Given the description of an element on the screen output the (x, y) to click on. 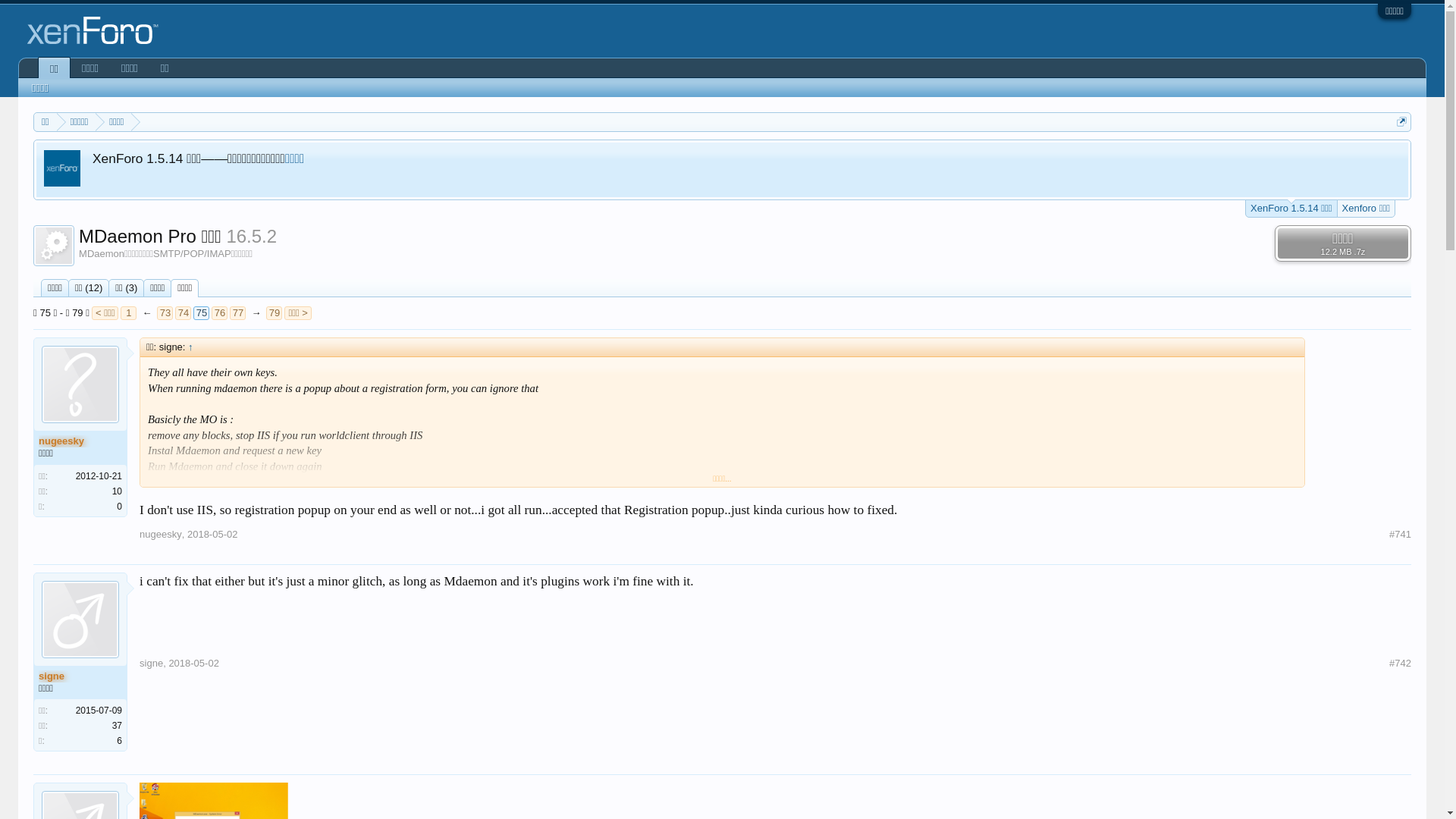
77 Element type: text (237, 313)
signe Element type: text (151, 662)
37 Element type: text (117, 725)
nugeesky Element type: text (80, 441)
79 Element type: text (274, 313)
nugeesky Element type: text (160, 533)
#741 Element type: text (1400, 534)
1 Element type: text (128, 313)
10 Element type: text (117, 491)
73 Element type: text (164, 313)
74 Element type: text (183, 313)
#742 Element type: text (1400, 663)
76 Element type: text (219, 313)
75 Element type: text (201, 313)
2018-05-02 Element type: text (212, 533)
signe Element type: text (80, 676)
2018-05-02 Element type: text (193, 662)
